Given the description of an element on the screen output the (x, y) to click on. 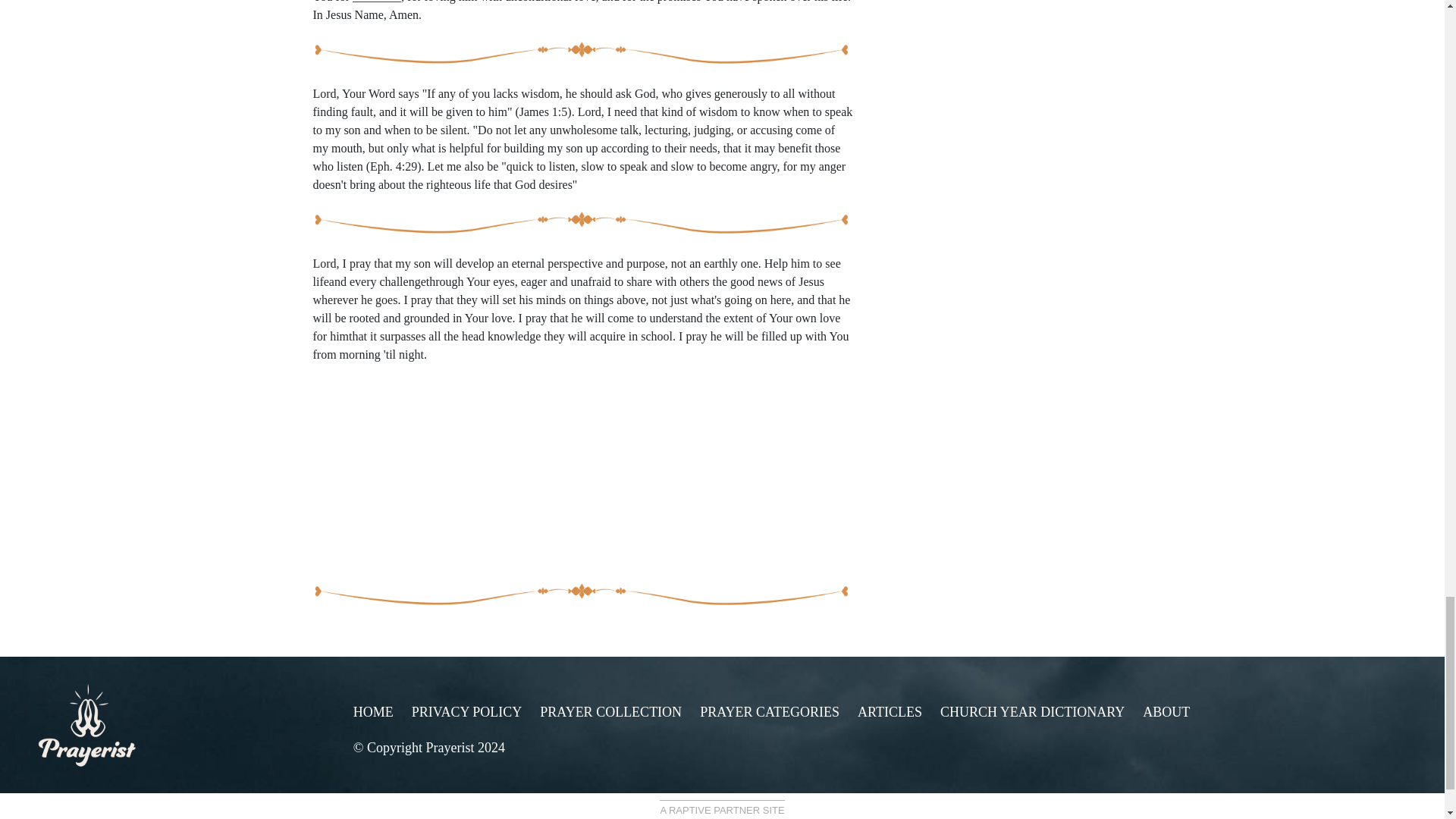
PRAYER CATEGORIES (770, 711)
PRIVACY POLICY (467, 711)
PRAYER COLLECTION (610, 711)
ARTICLES (889, 711)
ABOUT (1165, 711)
CHURCH YEAR DICTIONARY (1032, 711)
HOME (373, 711)
